Given the description of an element on the screen output the (x, y) to click on. 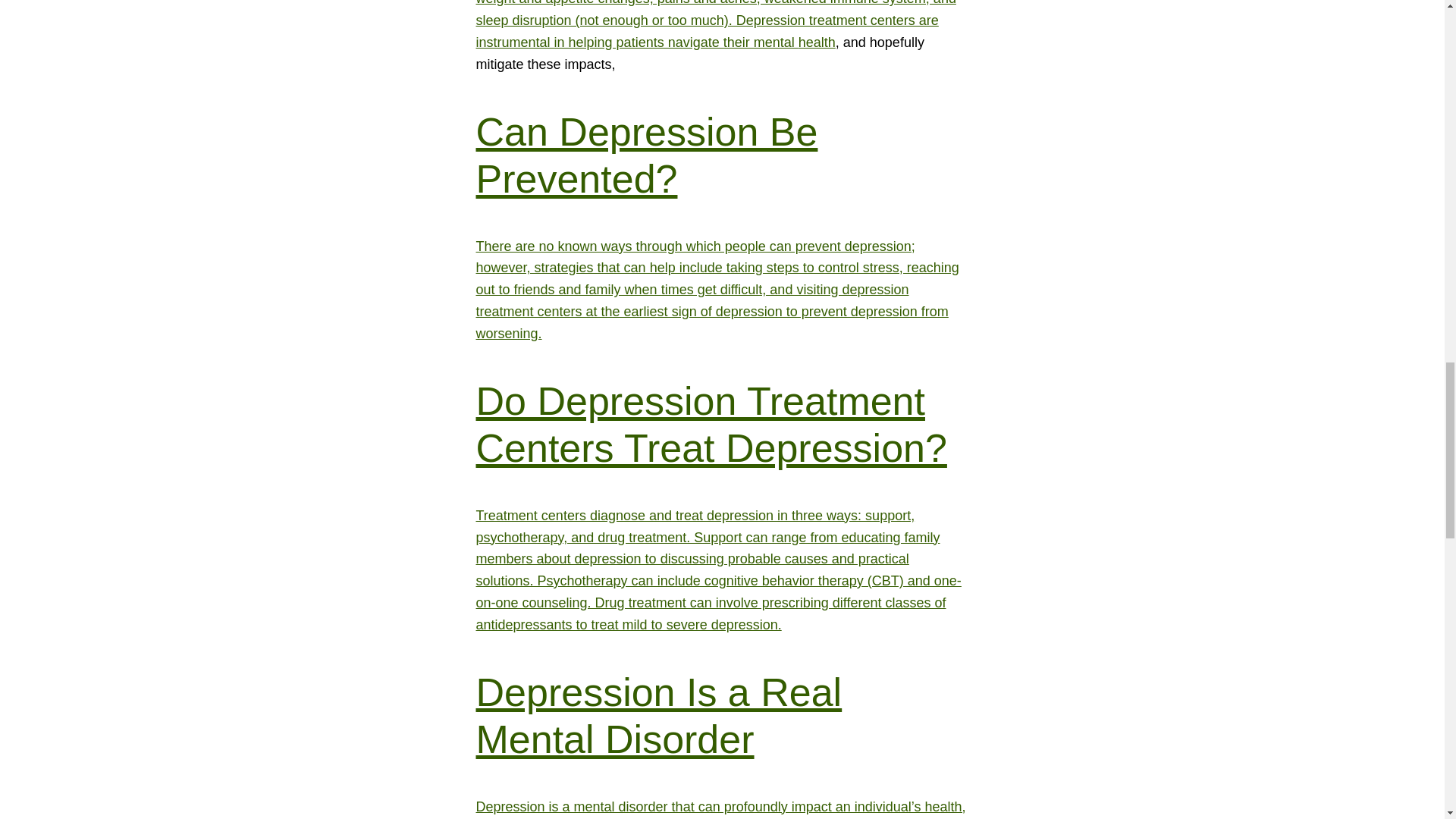
Can Depression Be Prevented? (647, 154)
health (816, 42)
Depression Is a Real Mental Disorder (659, 715)
Do Depression Treatment Centers Treat Depression? (711, 424)
